Given the description of an element on the screen output the (x, y) to click on. 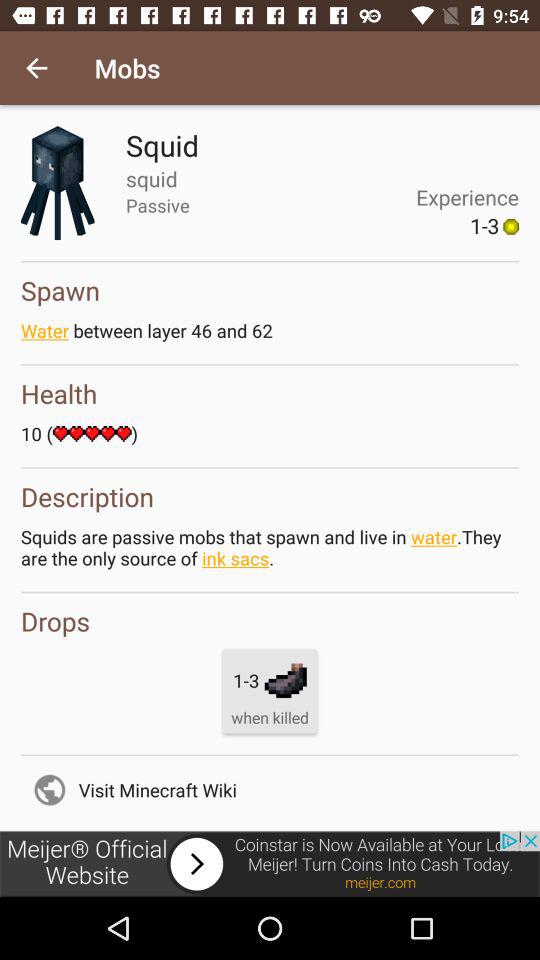
add the picture (270, 864)
